Given the description of an element on the screen output the (x, y) to click on. 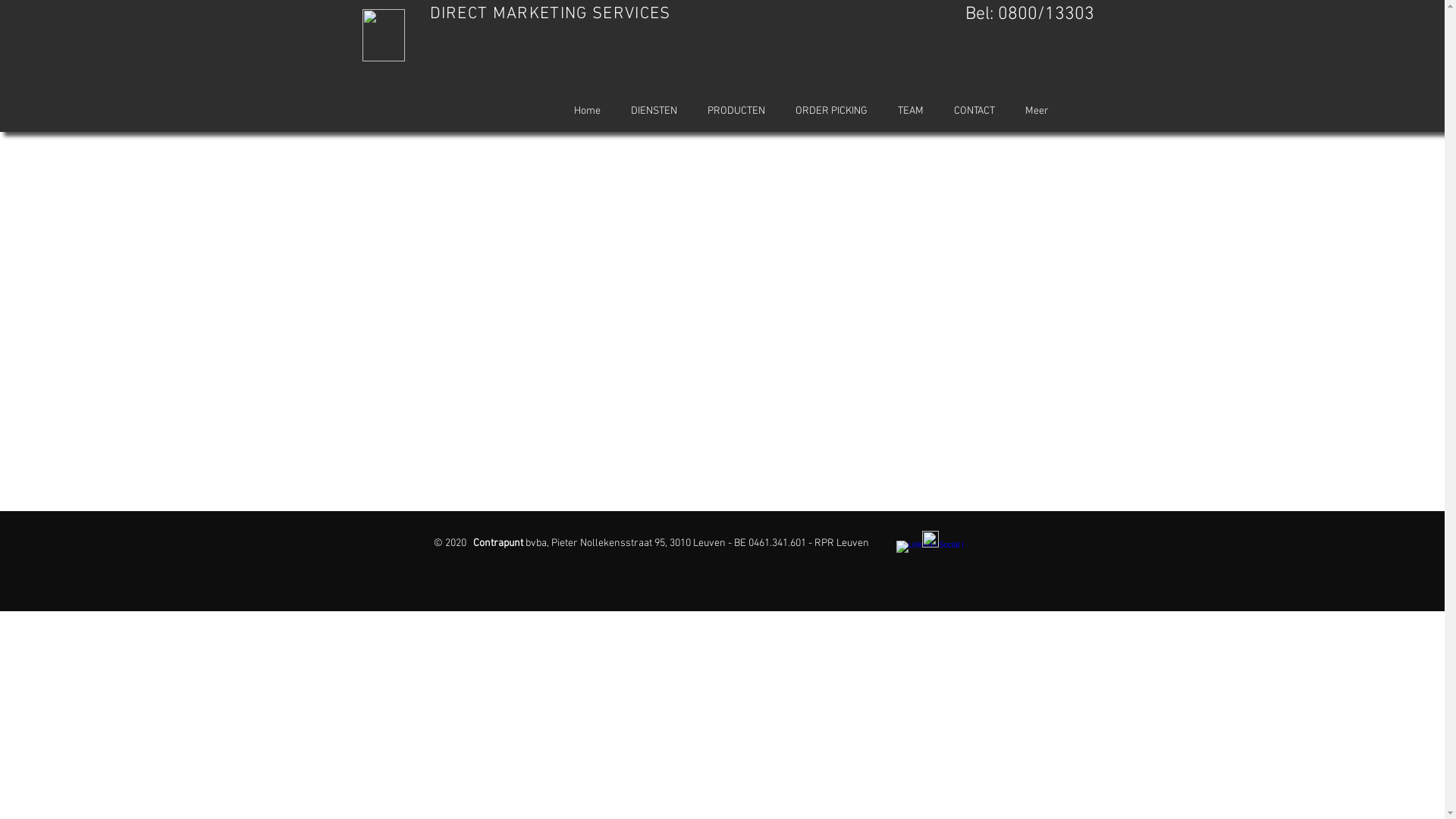
DIRECT MARKETING SERVICES Element type: text (549, 13)
DIENSTEN Element type: text (653, 111)
Home Element type: text (586, 111)
CONTACT Element type: text (974, 111)
TEAM Element type: text (910, 111)
PRODUCTEN Element type: text (736, 111)
ORDER PICKING Element type: text (831, 111)
